Given the description of an element on the screen output the (x, y) to click on. 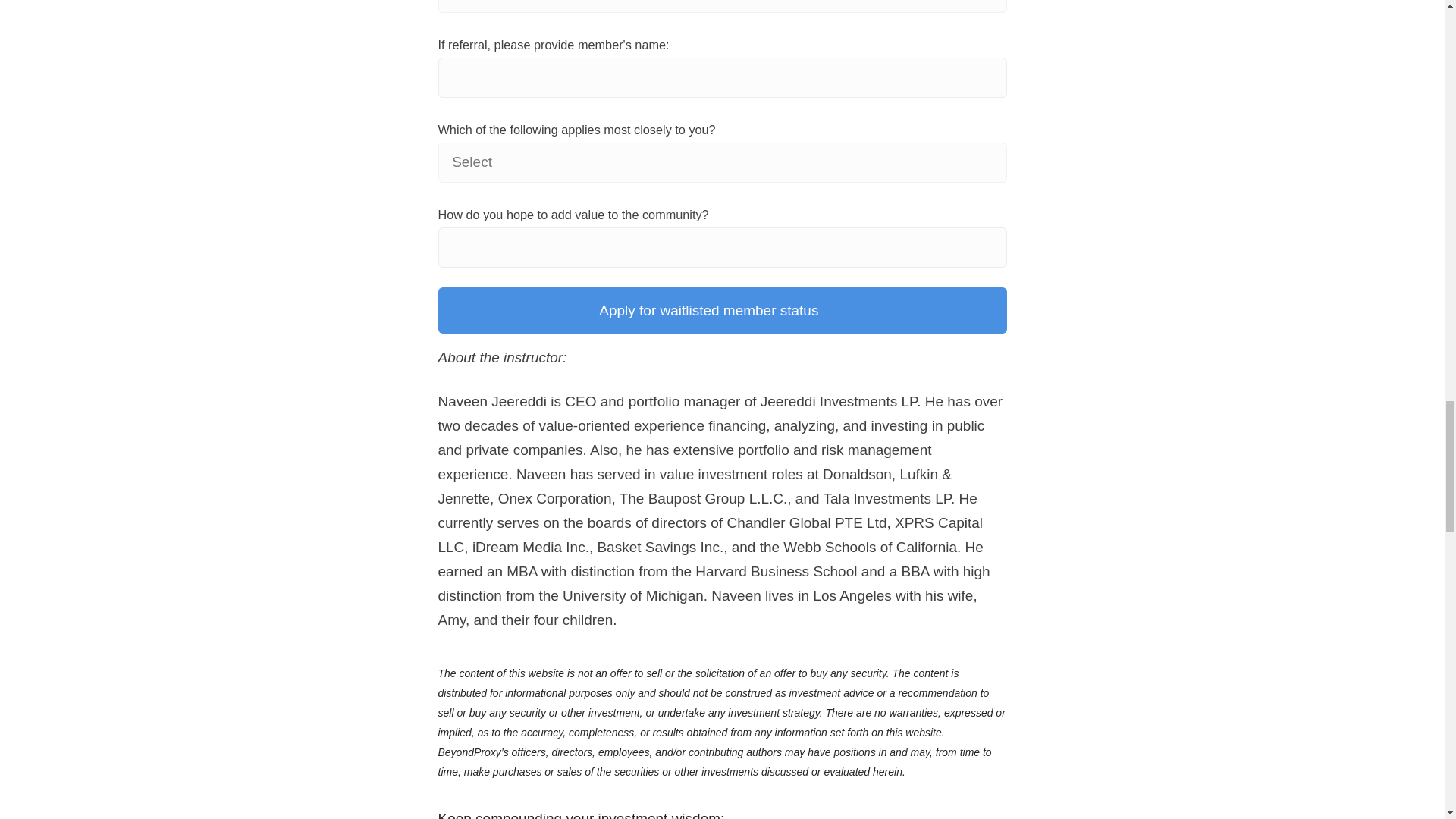
Apply for waitlisted member status (722, 310)
